Given the description of an element on the screen output the (x, y) to click on. 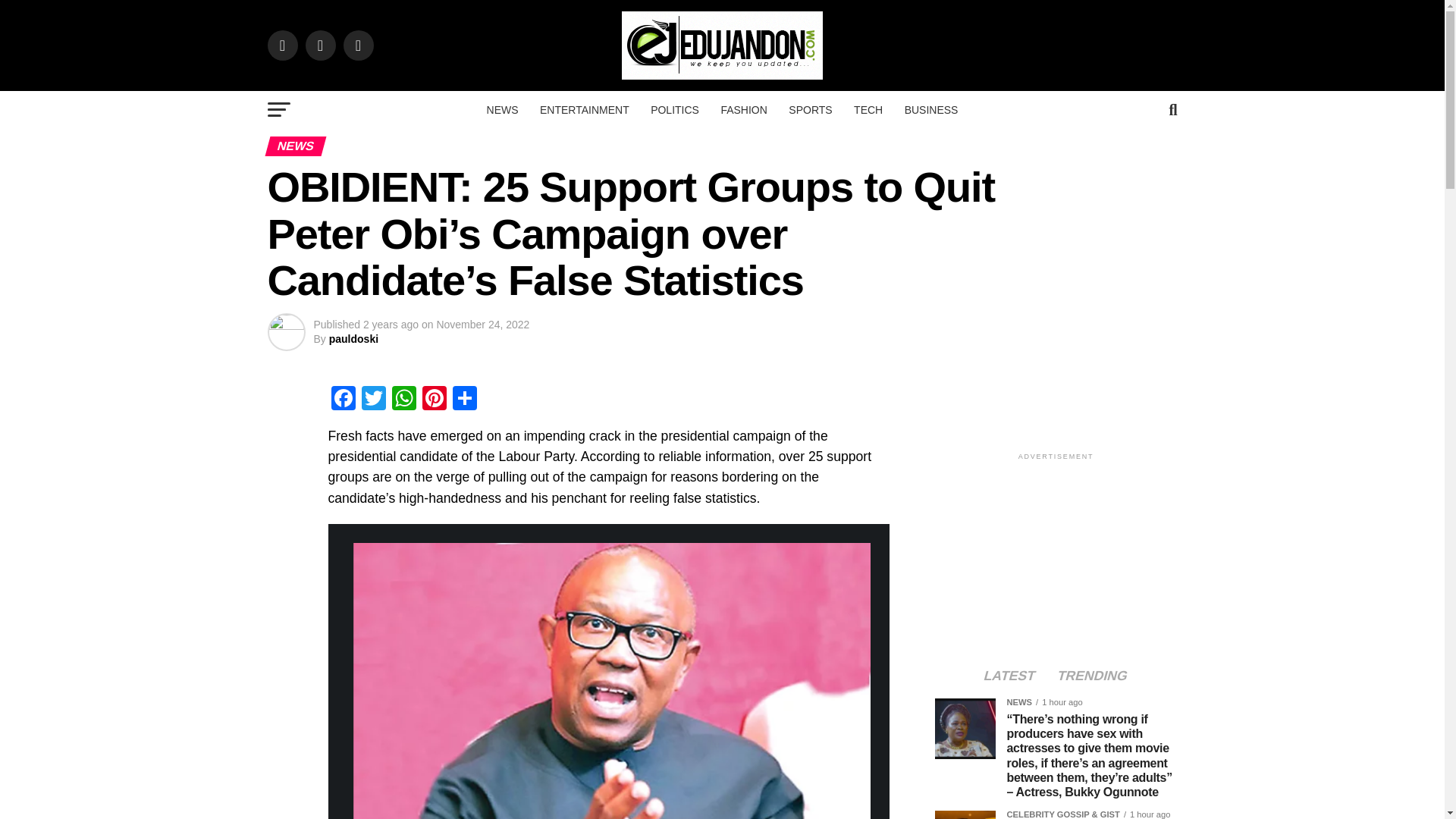
Posts by pauldoski (353, 338)
POLITICS (674, 109)
FASHION (743, 109)
ENTERTAINMENT (585, 109)
WhatsApp (403, 399)
Twitter (373, 399)
Facebook (342, 399)
NEWS (502, 109)
Pinterest (433, 399)
